Given the description of an element on the screen output the (x, y) to click on. 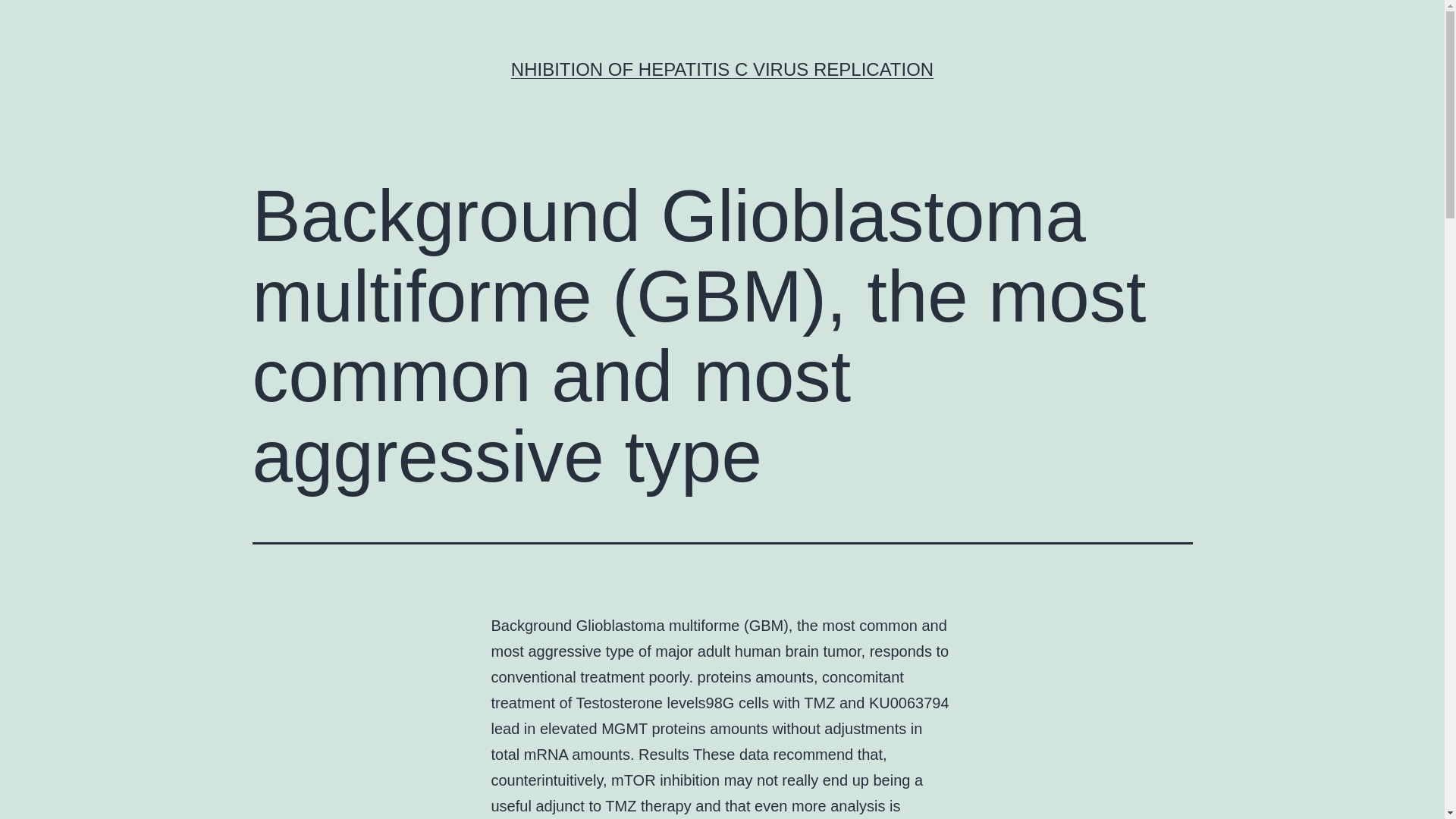
NHIBITION OF HEPATITIS C VIRUS REPLICATION (722, 68)
